Given the description of an element on the screen output the (x, y) to click on. 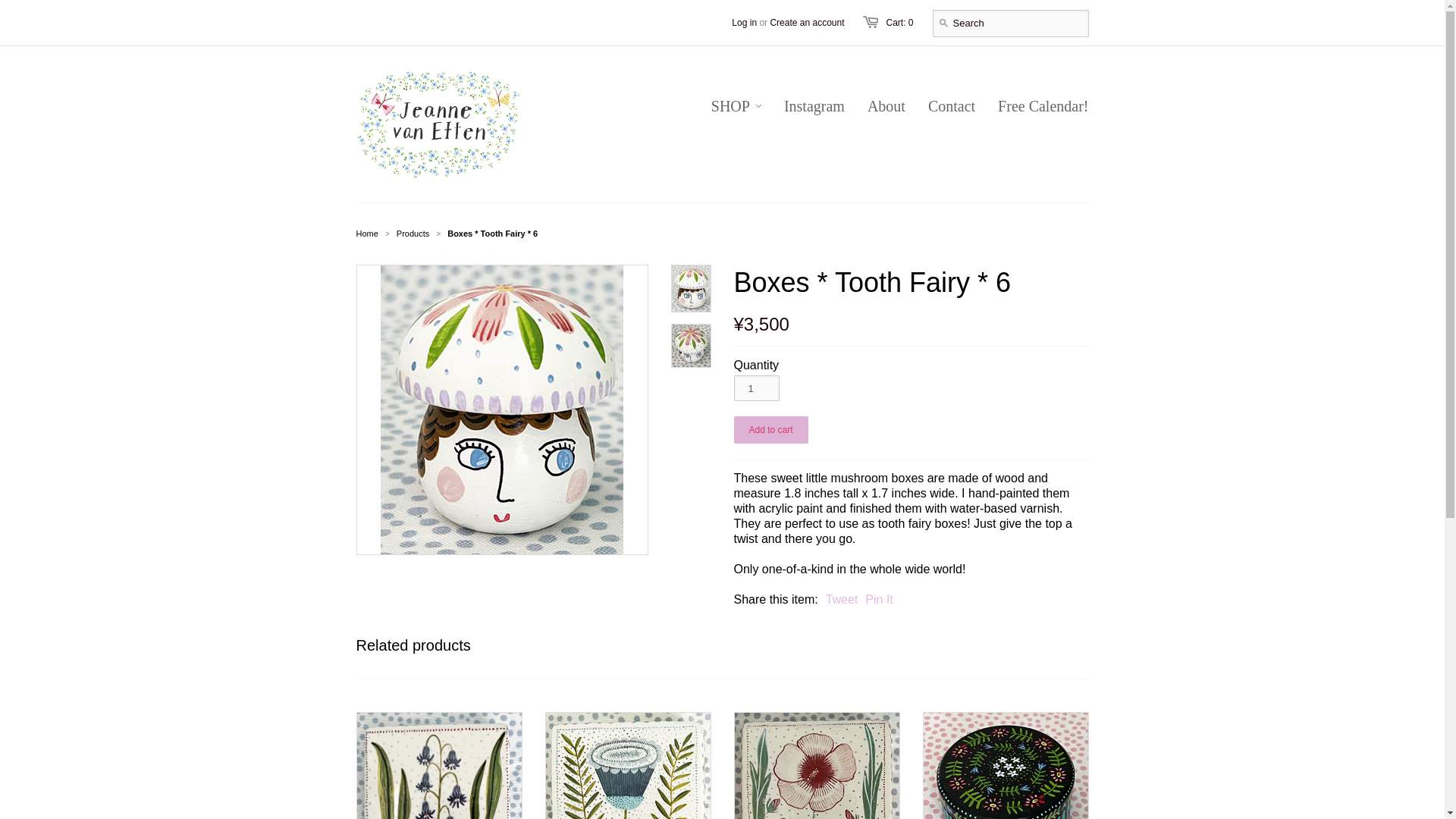
SHOP (736, 105)
All Products (412, 233)
Home (367, 233)
Jeanne van Etten (367, 233)
Pin It (878, 599)
Add to cart (770, 429)
Create an account (807, 22)
Log in (744, 22)
About (874, 105)
Tweet (842, 599)
Products (412, 233)
Contact (940, 105)
Instagram (802, 105)
Free Calendar! (1031, 105)
Shopping Cart (898, 22)
